Given the description of an element on the screen output the (x, y) to click on. 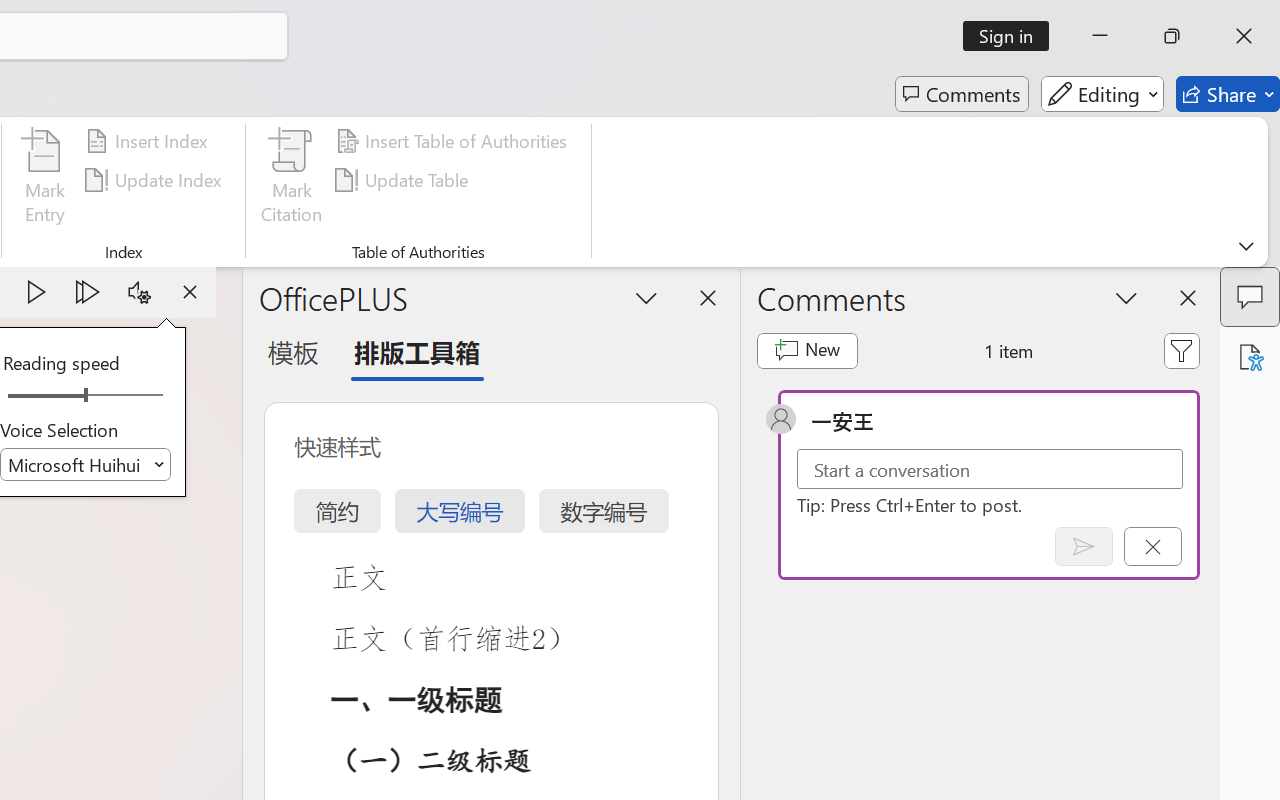
Accessibility Assistant (1249, 357)
Stop (190, 292)
Editing (1101, 94)
Reading speed (85, 396)
Voice Selection (85, 464)
Post comment (Ctrl + Enter) (1083, 546)
Next Paragraph (87, 292)
